Given the description of an element on the screen output the (x, y) to click on. 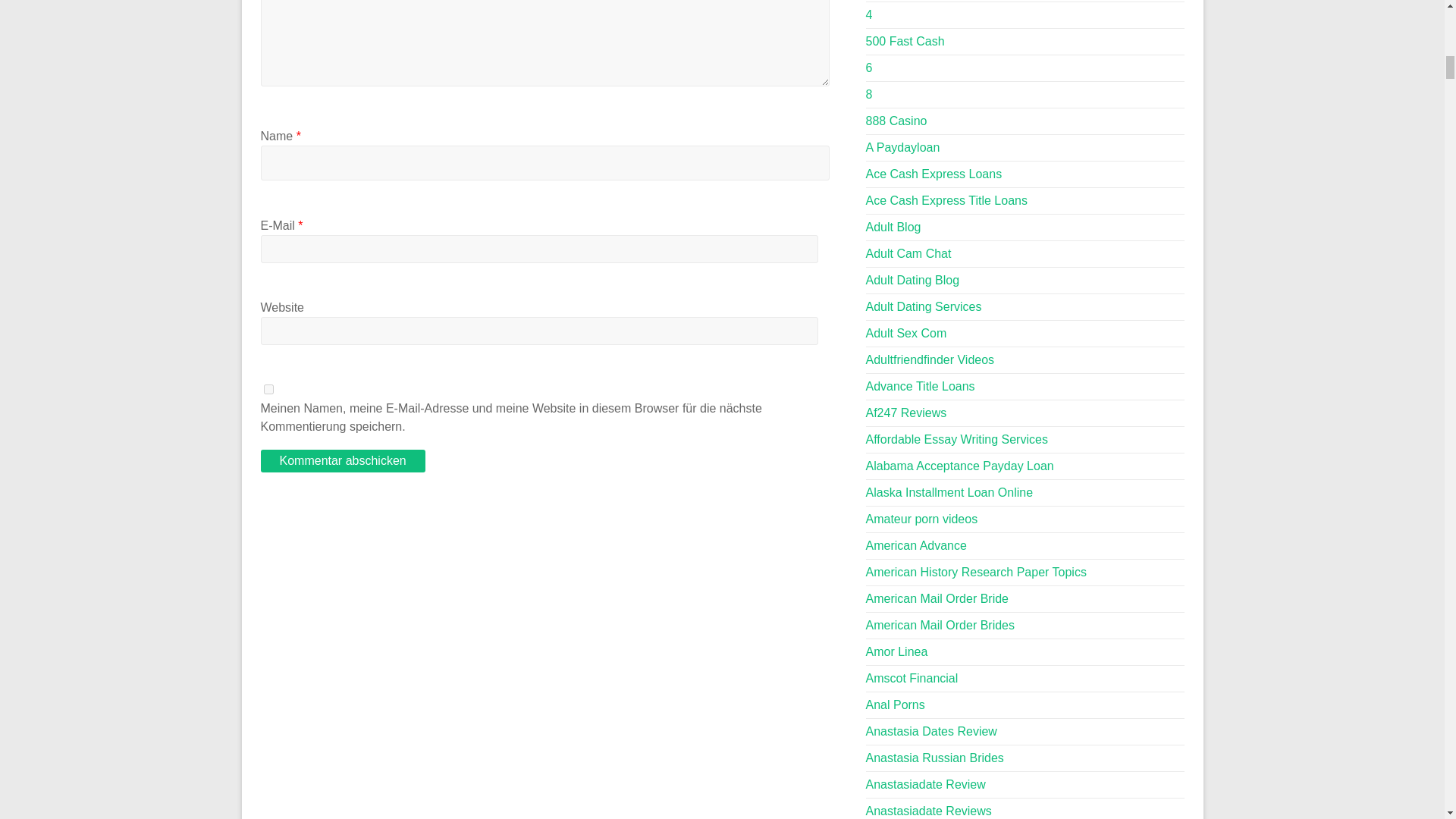
Kommentar abschicken (342, 460)
yes (268, 388)
Kommentar abschicken (342, 460)
